Given the description of an element on the screen output the (x, y) to click on. 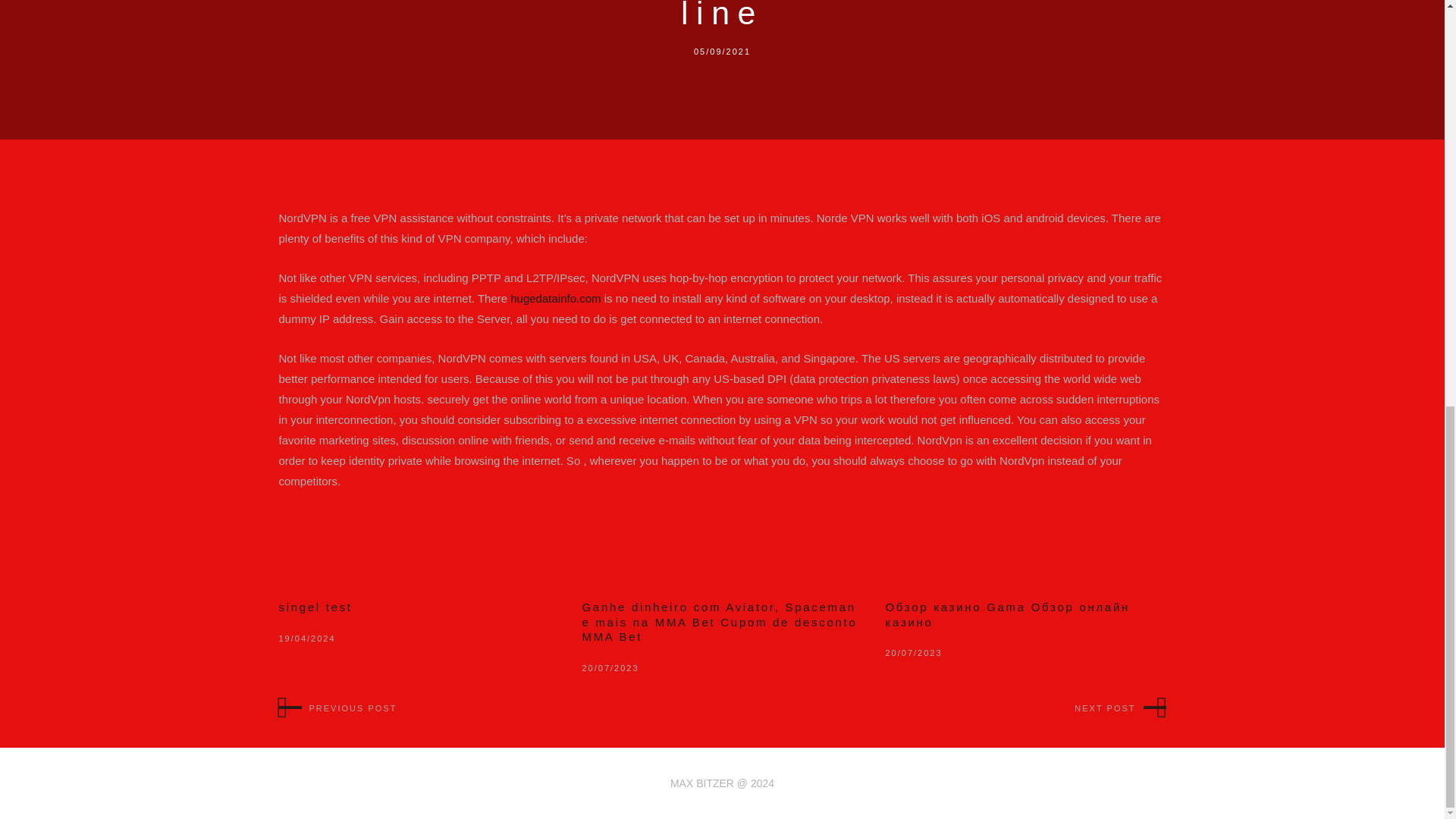
singel test (315, 607)
hugedatainfo.com (555, 297)
NEXT POST (1120, 708)
PREVIOUS POST (338, 708)
